Given the description of an element on the screen output the (x, y) to click on. 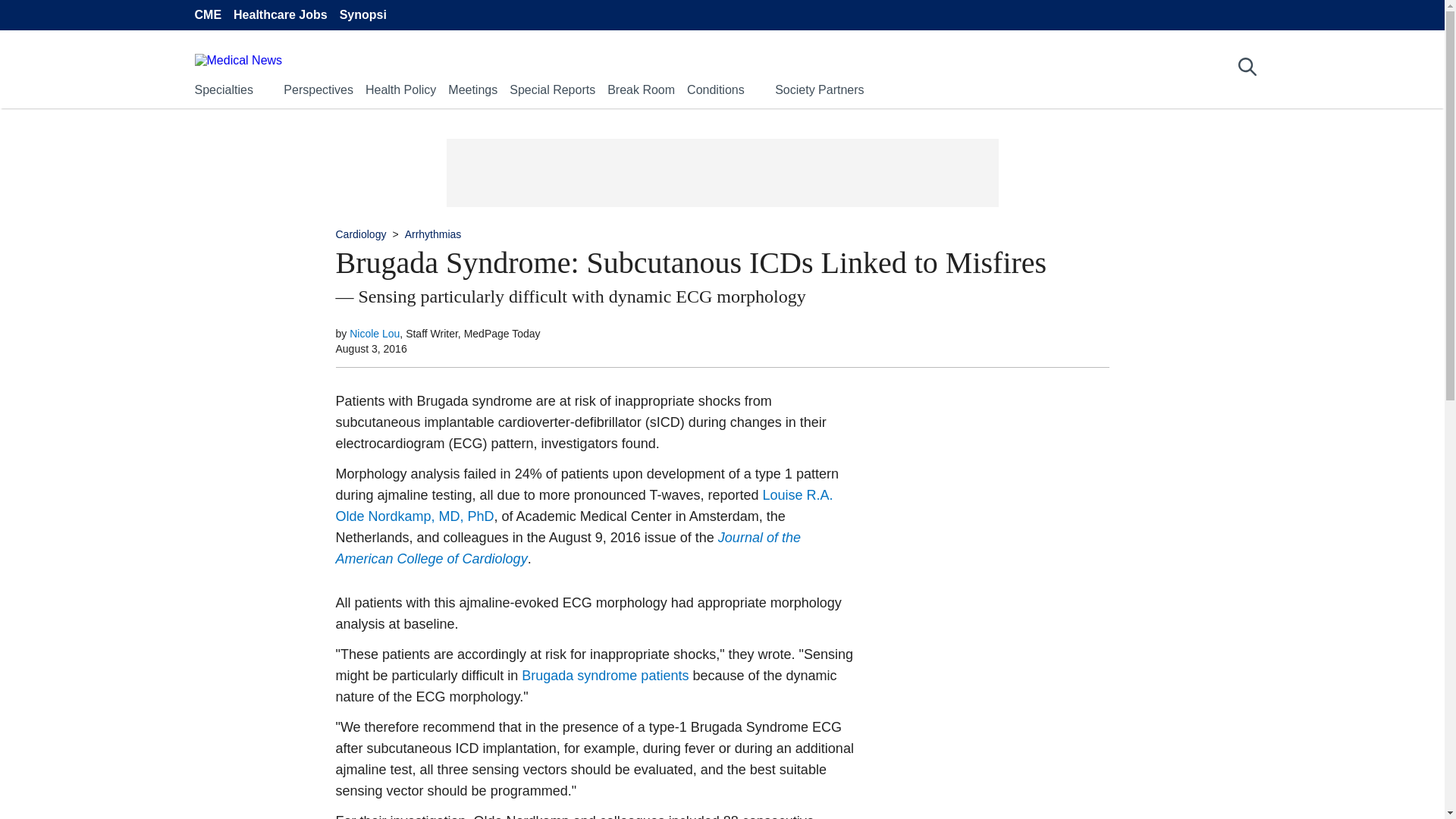
Healthcare Jobs (279, 15)
Synopsi (363, 15)
CME (207, 15)
Specialties (222, 89)
